Given the description of an element on the screen output the (x, y) to click on. 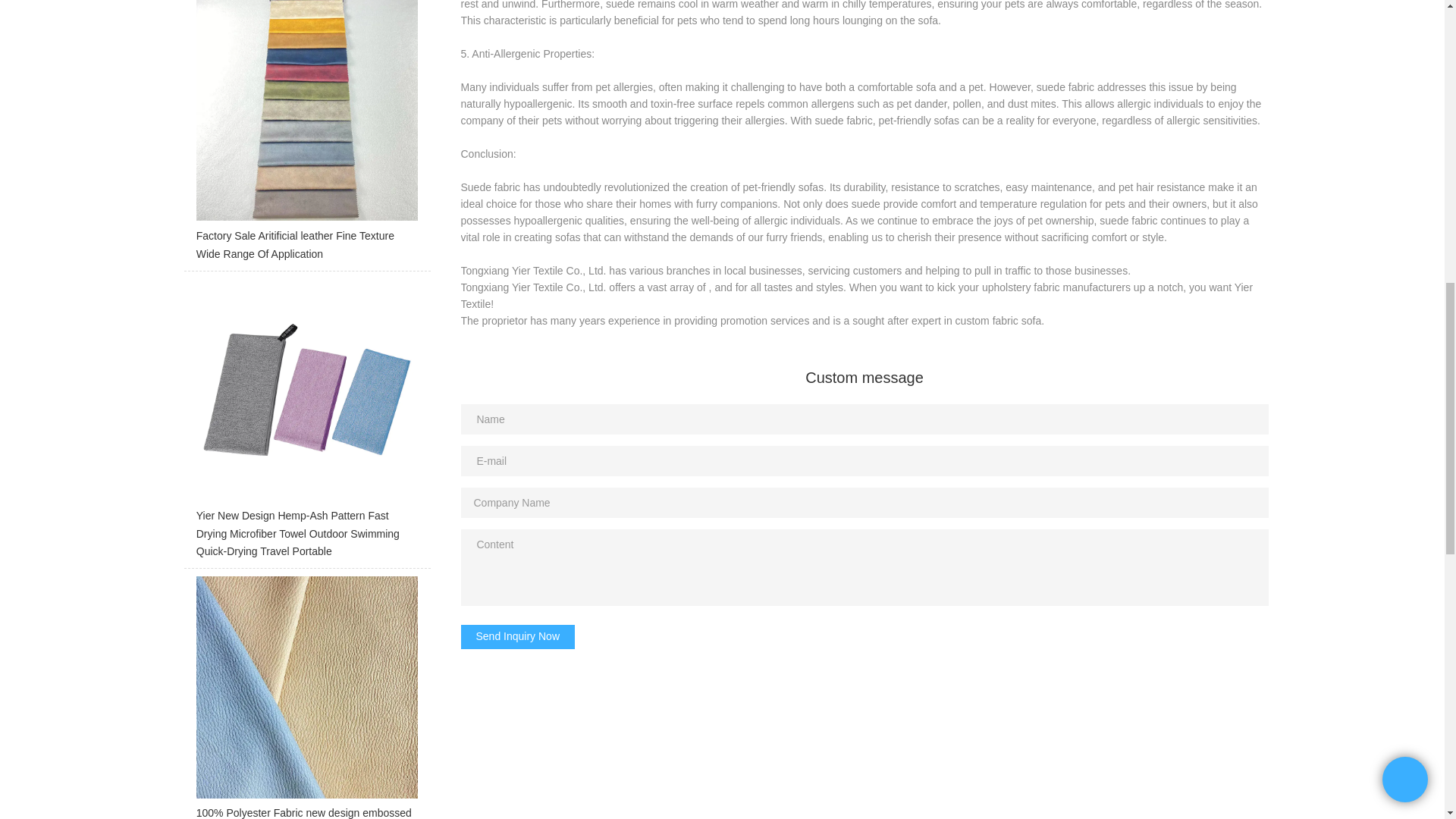
Send Inquiry Now (518, 636)
